Given the description of an element on the screen output the (x, y) to click on. 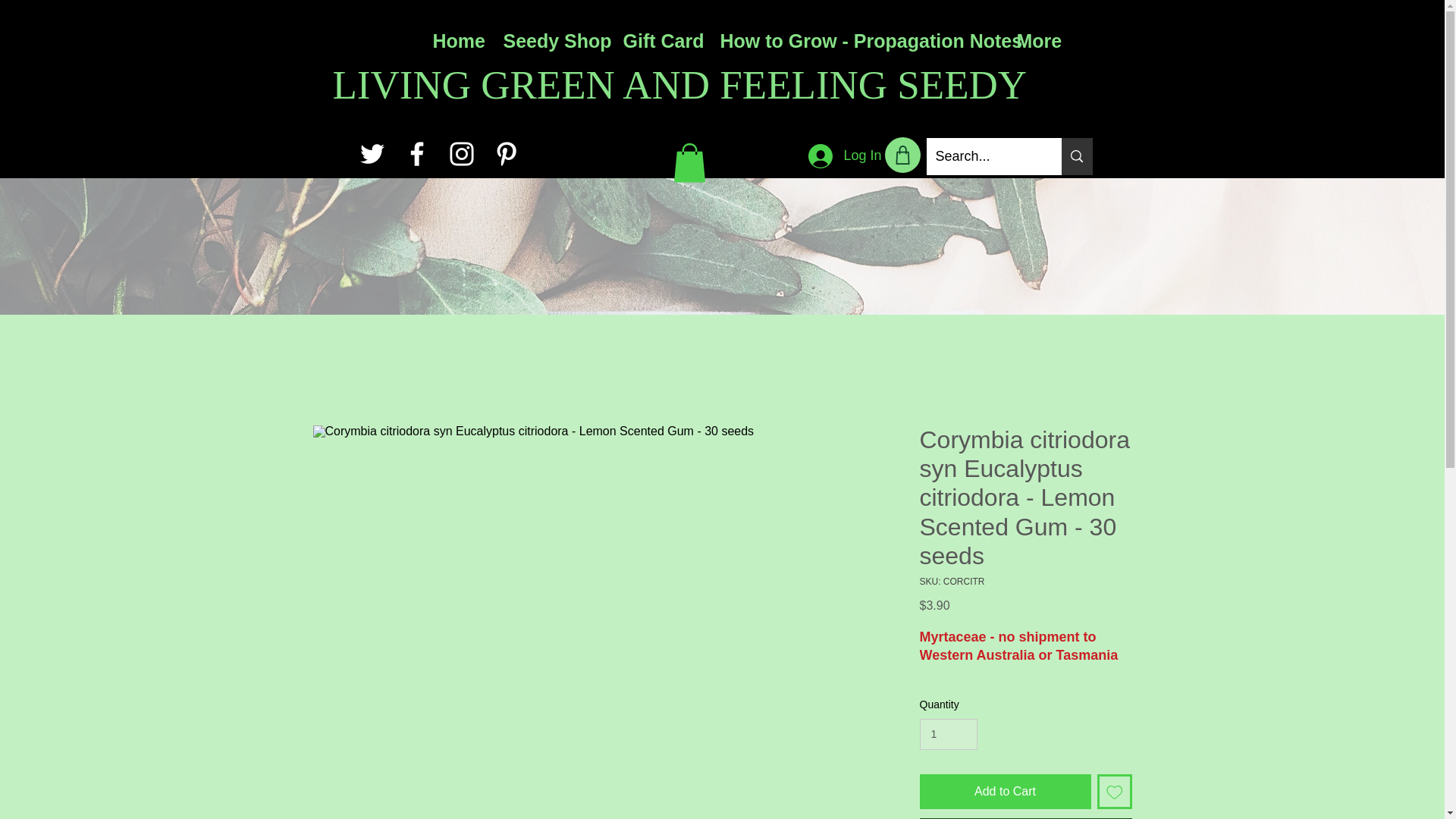
Gift Card (659, 40)
Log In (844, 155)
Seedy Shop (551, 40)
Add to Cart (1004, 791)
Home (457, 40)
1 (947, 734)
How to Grow - Propagation Notes (855, 40)
